Given the description of an element on the screen output the (x, y) to click on. 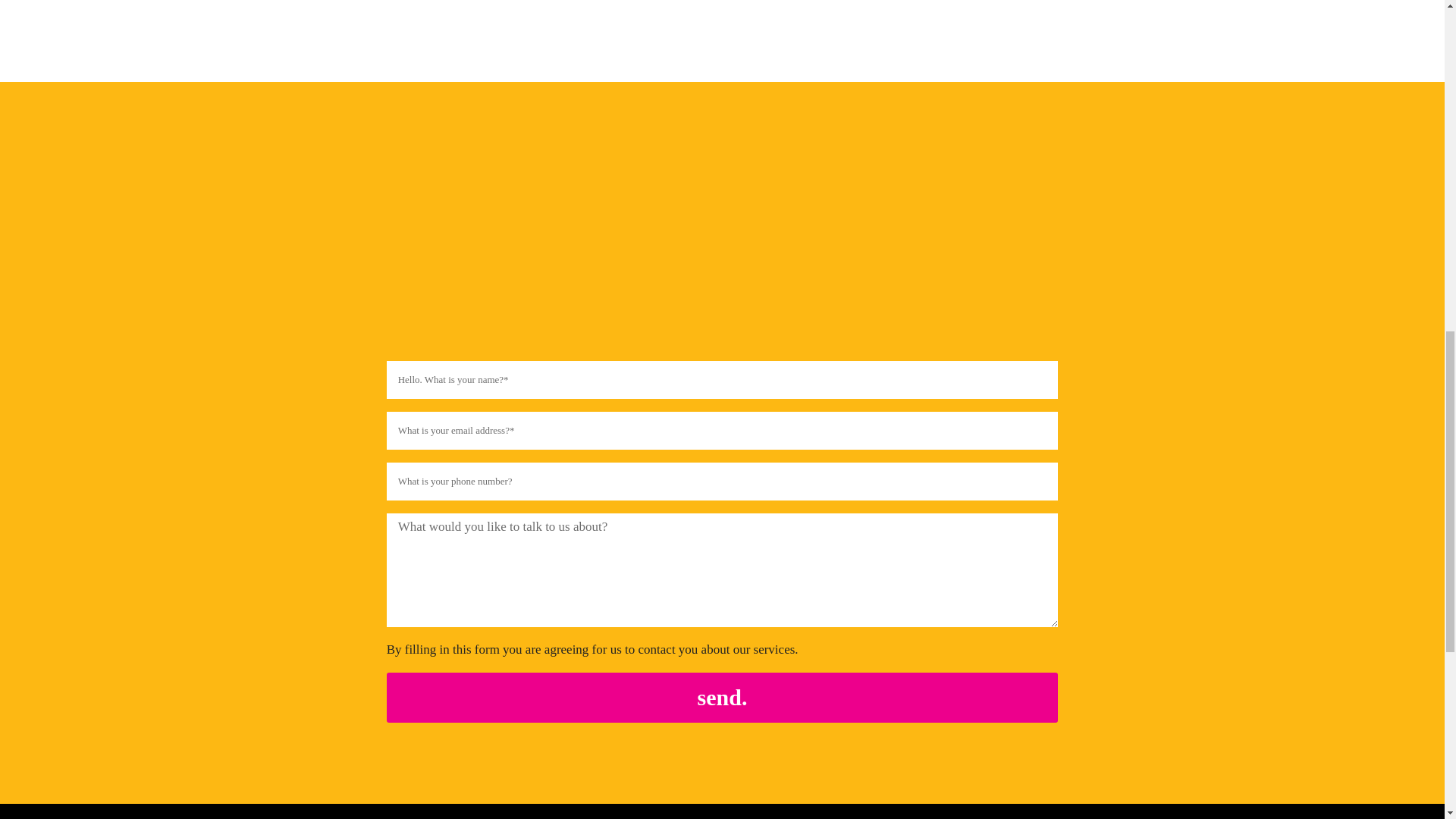
send. (722, 697)
send. (722, 697)
